Given the description of an element on the screen output the (x, y) to click on. 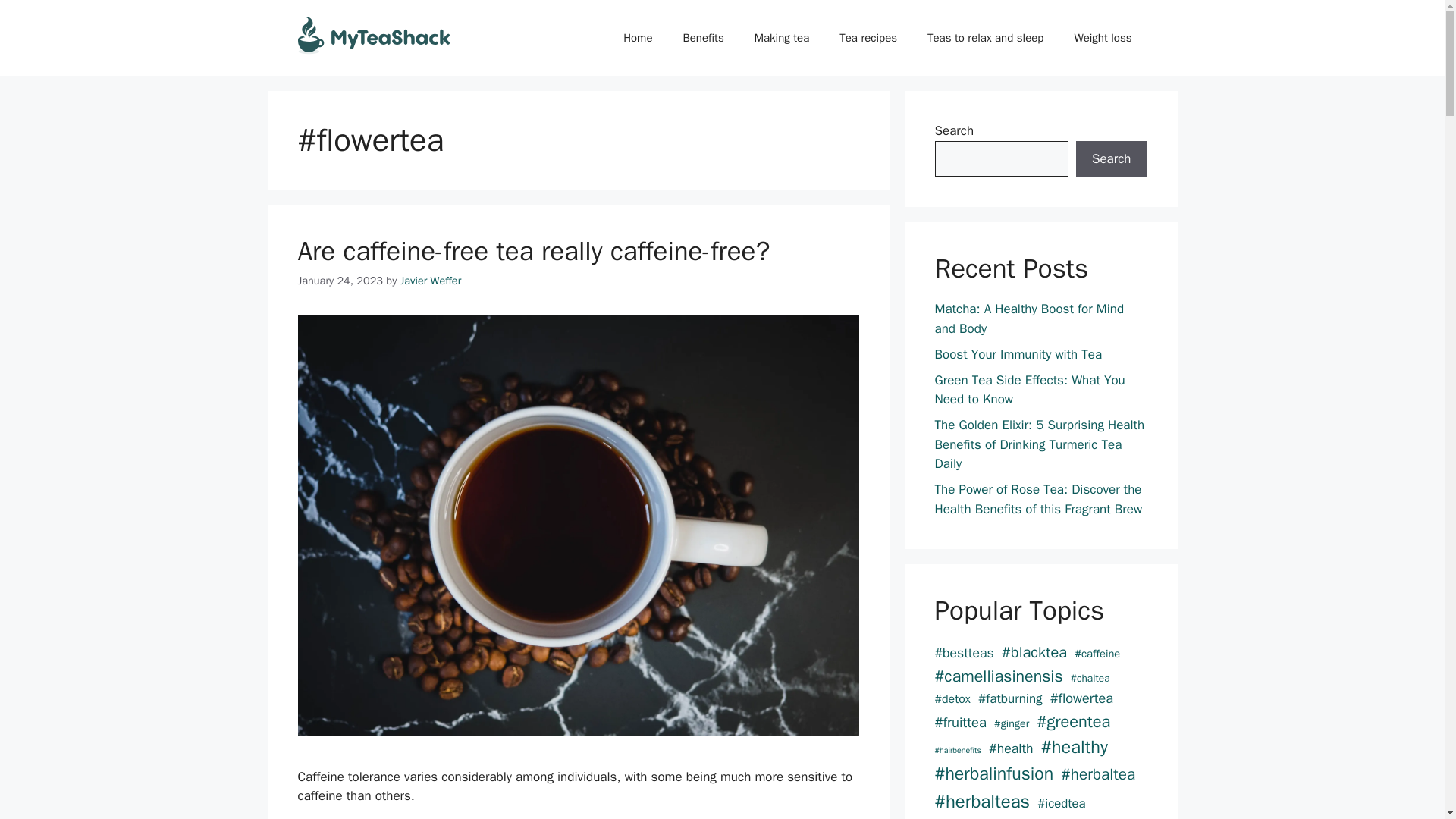
Tea recipes (868, 37)
Teas to relax and sleep (985, 37)
View all posts by Javier Weffer (430, 280)
Benefits (702, 37)
Javier Weffer (430, 280)
Are caffeine-free tea really caffeine-free? (533, 250)
Making tea (782, 37)
Weight loss (1102, 37)
Home (637, 37)
